Given the description of an element on the screen output the (x, y) to click on. 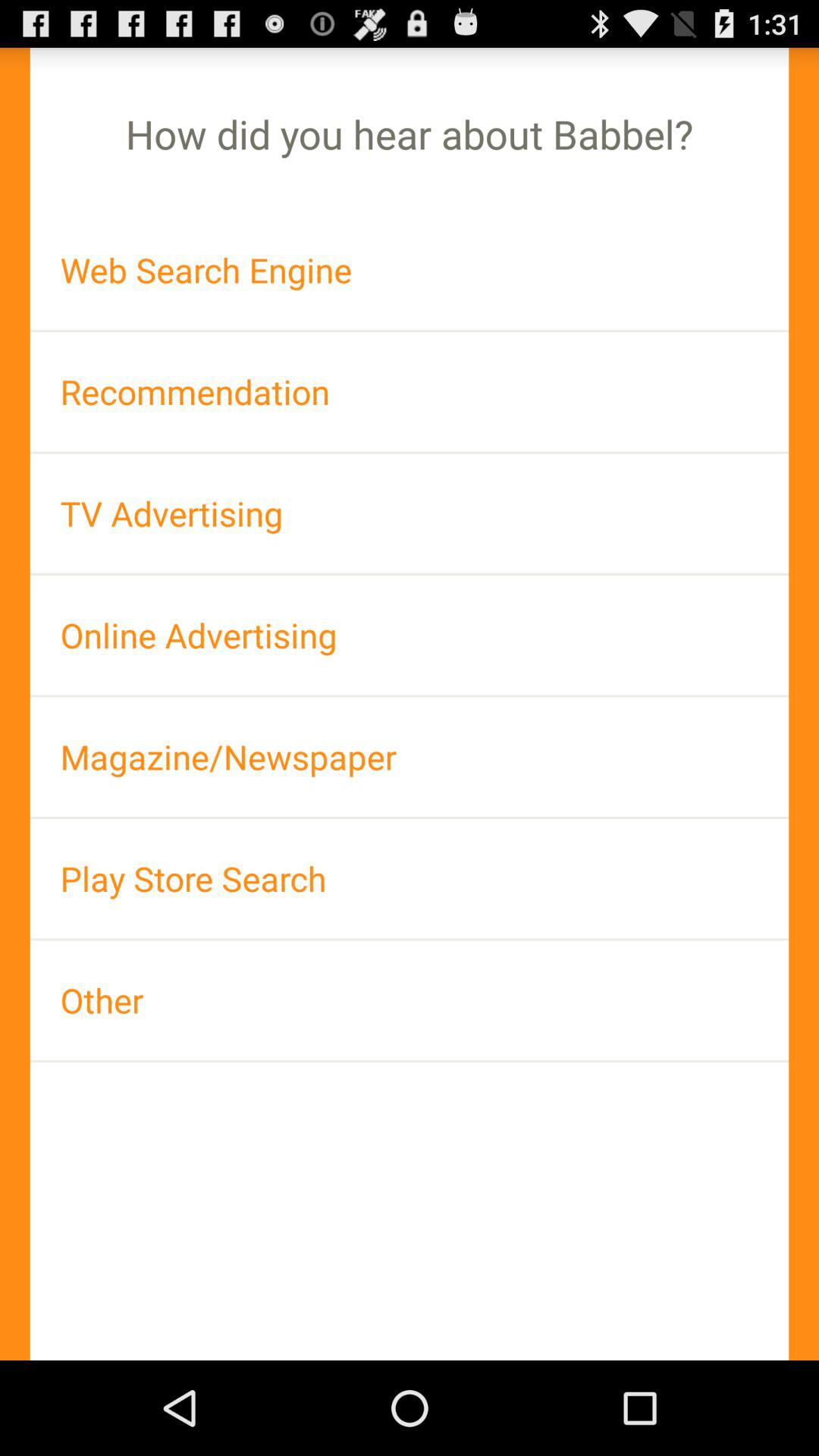
select the item below online advertising item (409, 756)
